Given the description of an element on the screen output the (x, y) to click on. 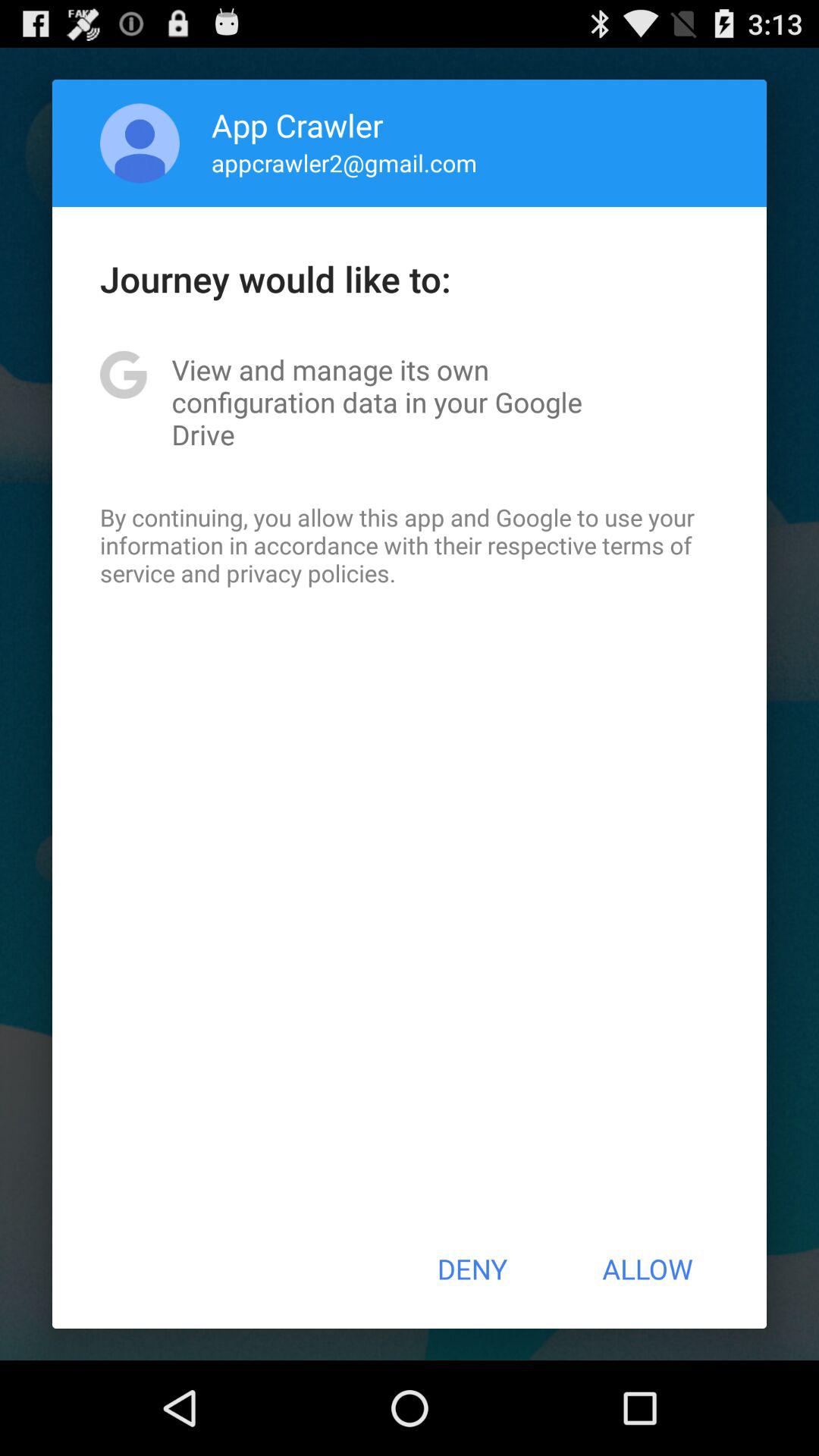
choose deny button (471, 1268)
